Given the description of an element on the screen output the (x, y) to click on. 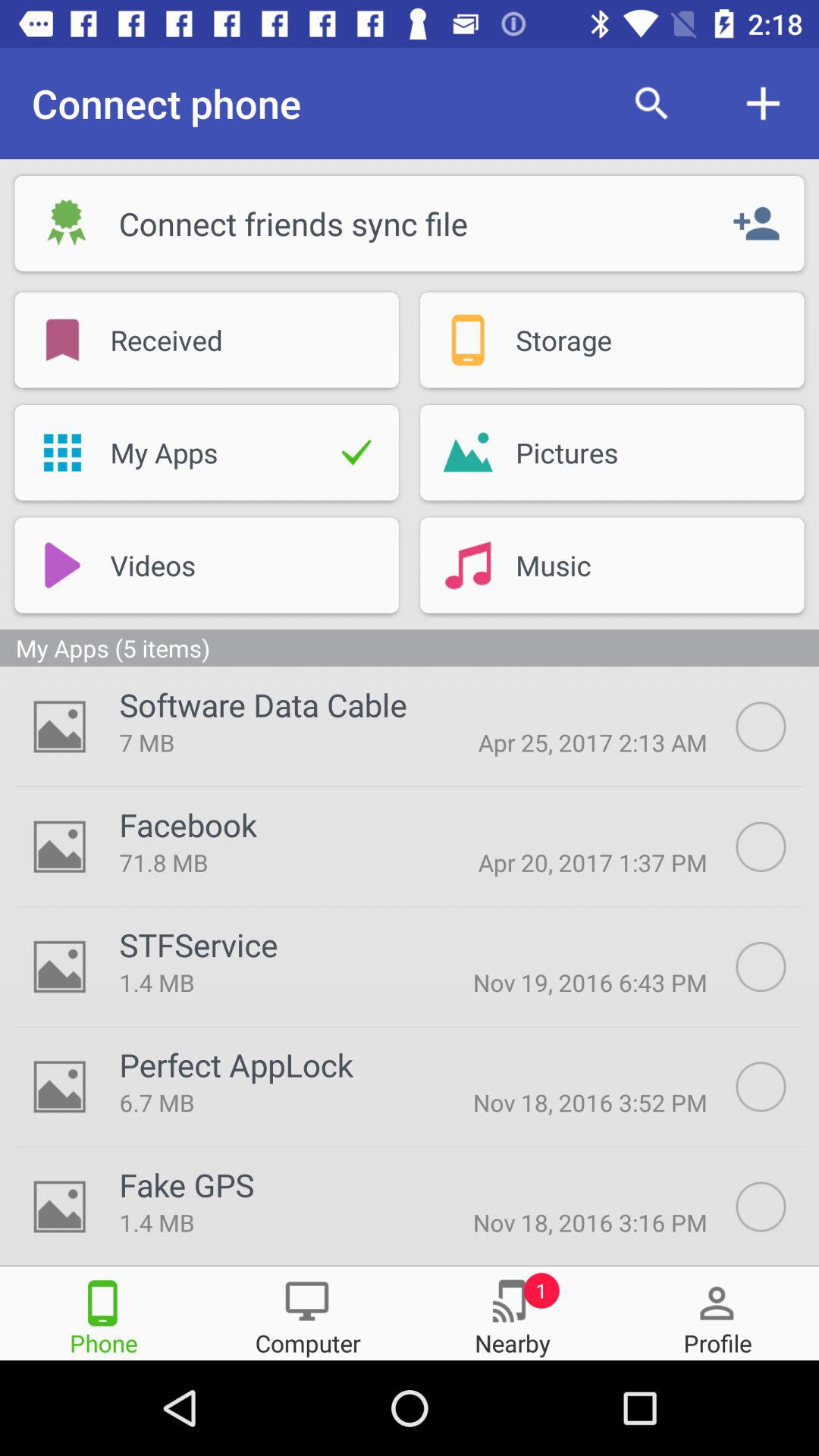
press app to the left of the received (62, 339)
